Given the description of an element on the screen output the (x, y) to click on. 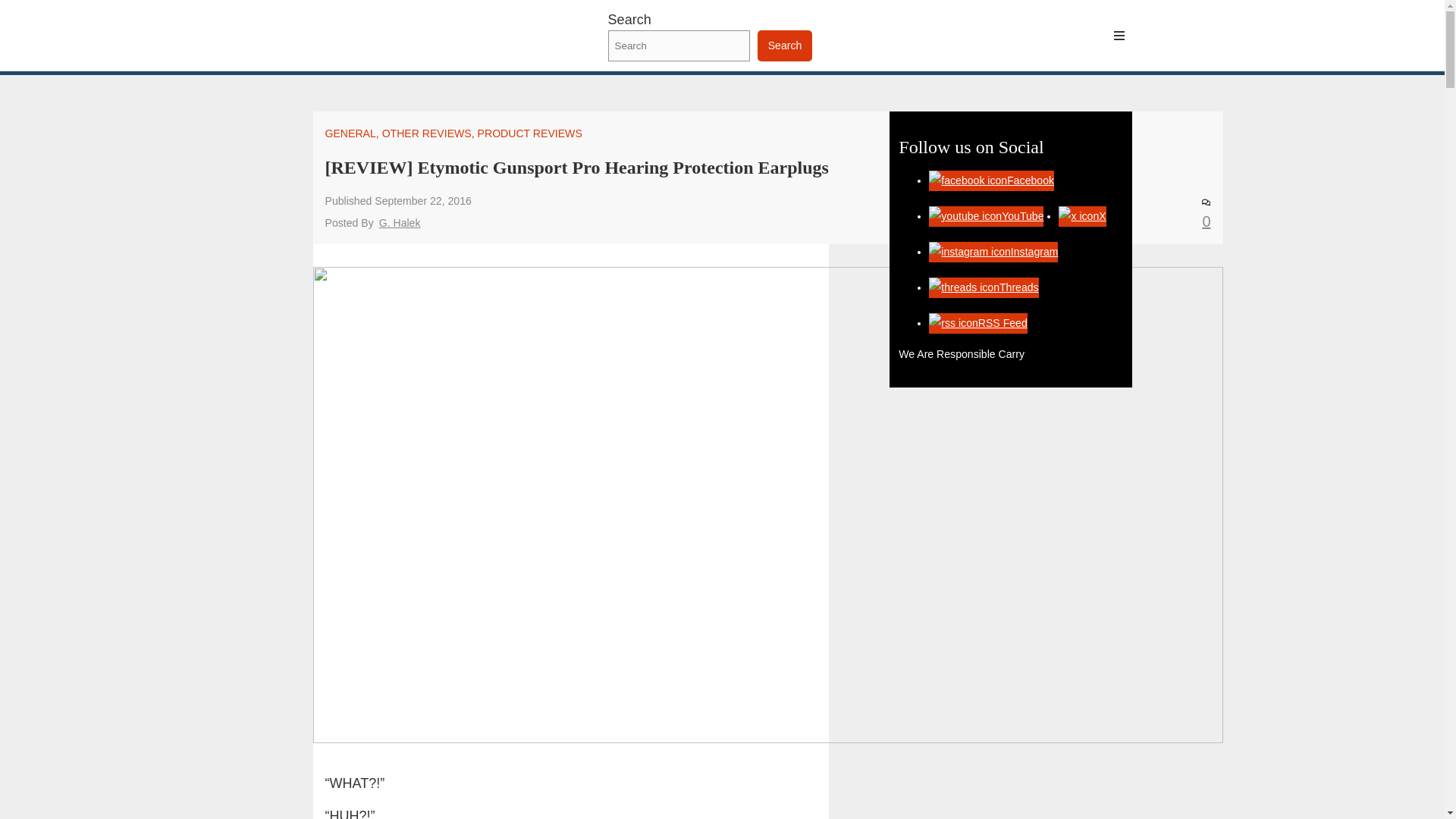
G. Halek (399, 223)
Search (784, 45)
OTHER REVIEWS (426, 133)
GENERAL (349, 133)
PRODUCT REVIEWS (529, 133)
